Given the description of an element on the screen output the (x, y) to click on. 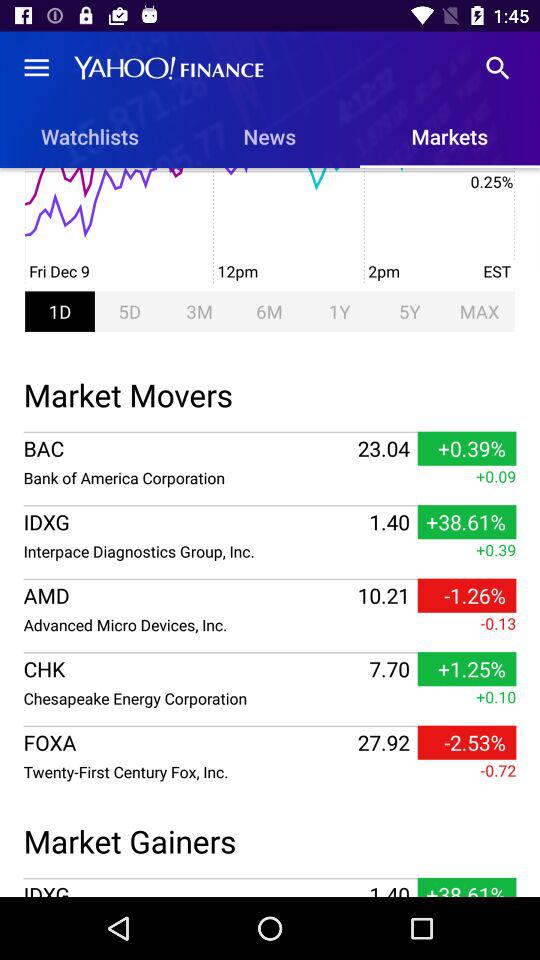
press the item next to the 10.21 item (187, 624)
